Given the description of an element on the screen output the (x, y) to click on. 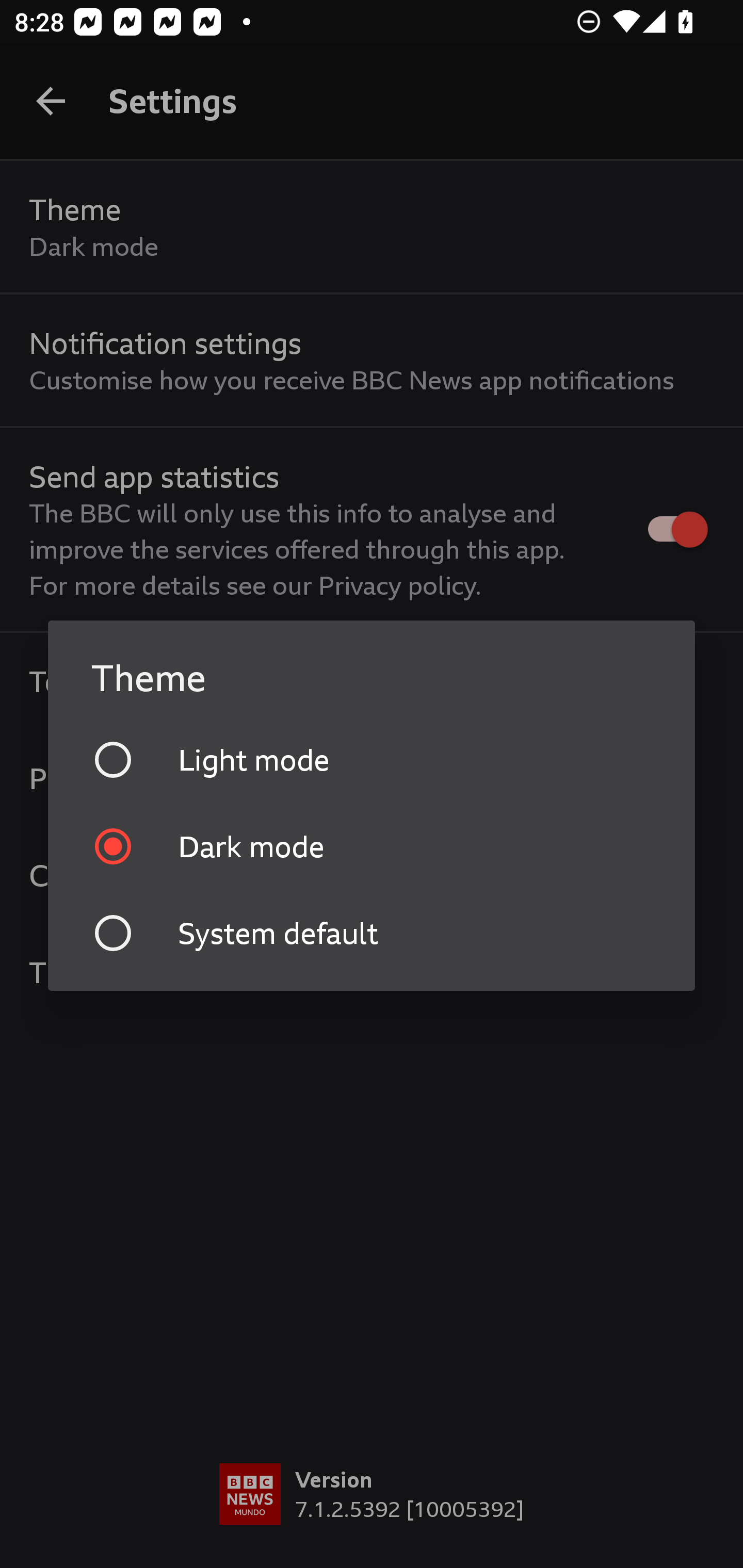
Light mode (371, 759)
Dark mode (371, 845)
System default (371, 932)
